Given the description of an element on the screen output the (x, y) to click on. 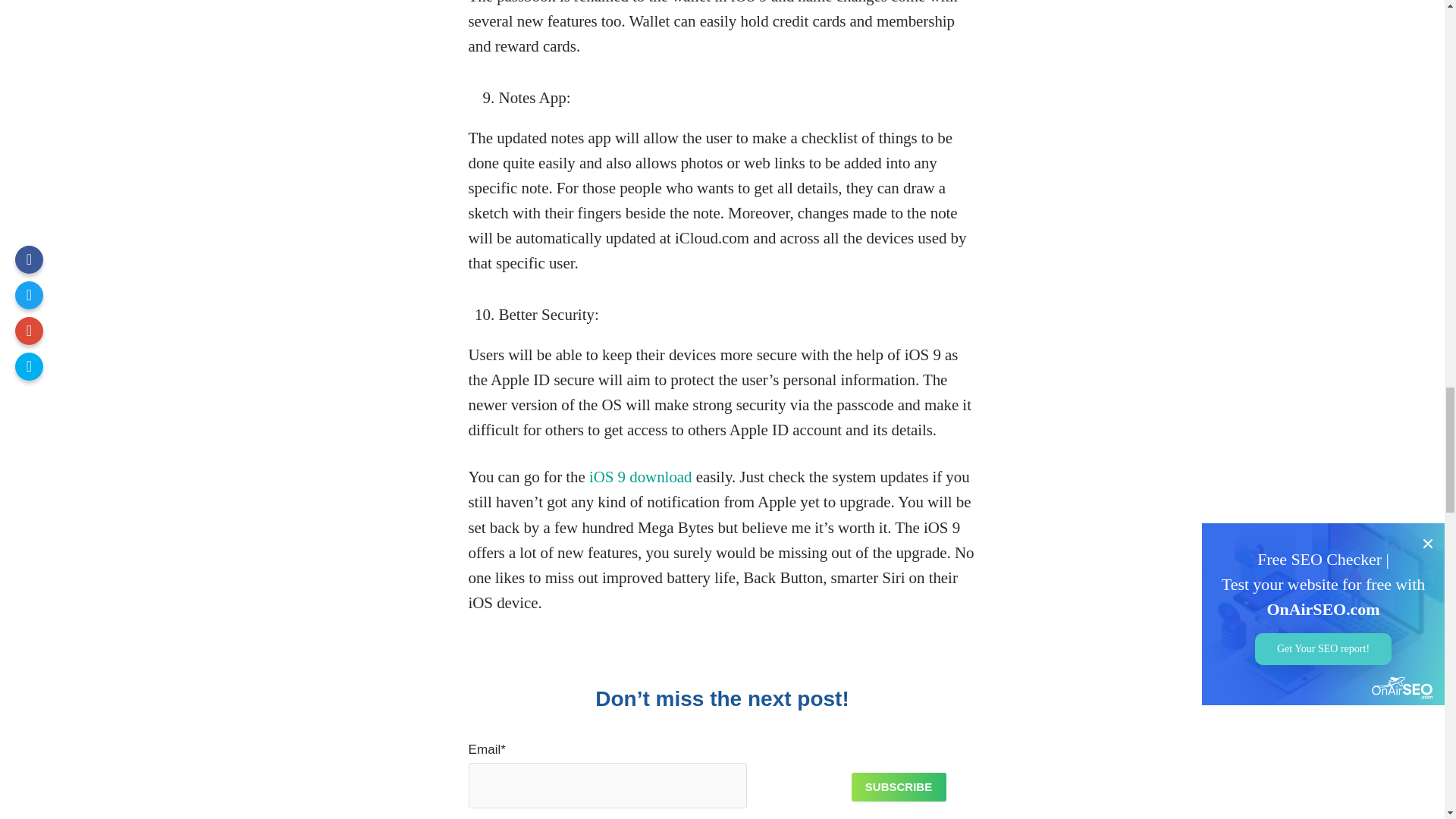
Subscribe (897, 787)
